Given the description of an element on the screen output the (x, y) to click on. 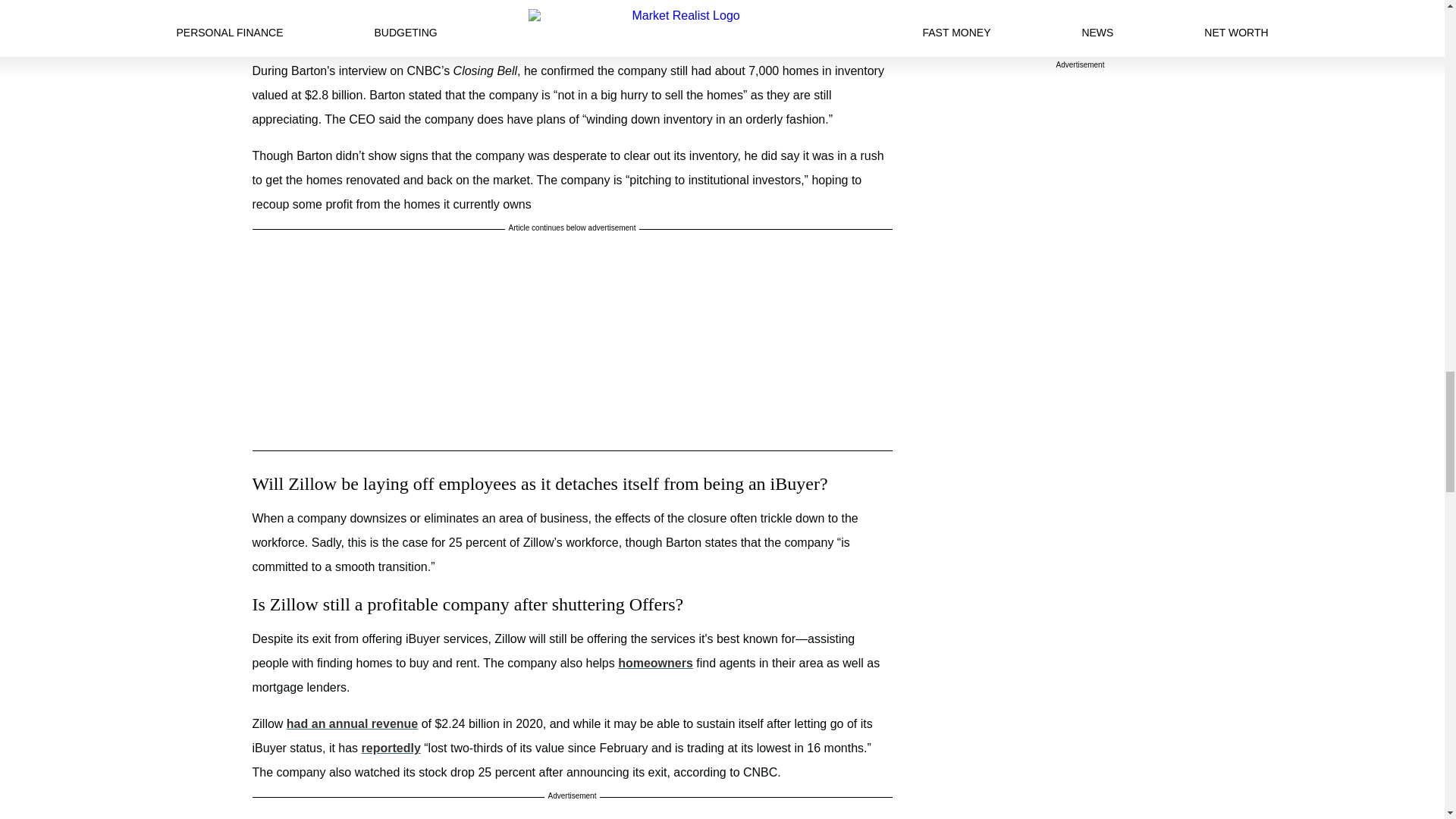
had an annual revenue (351, 723)
reportedly (390, 748)
homeowners (655, 662)
